Given the description of an element on the screen output the (x, y) to click on. 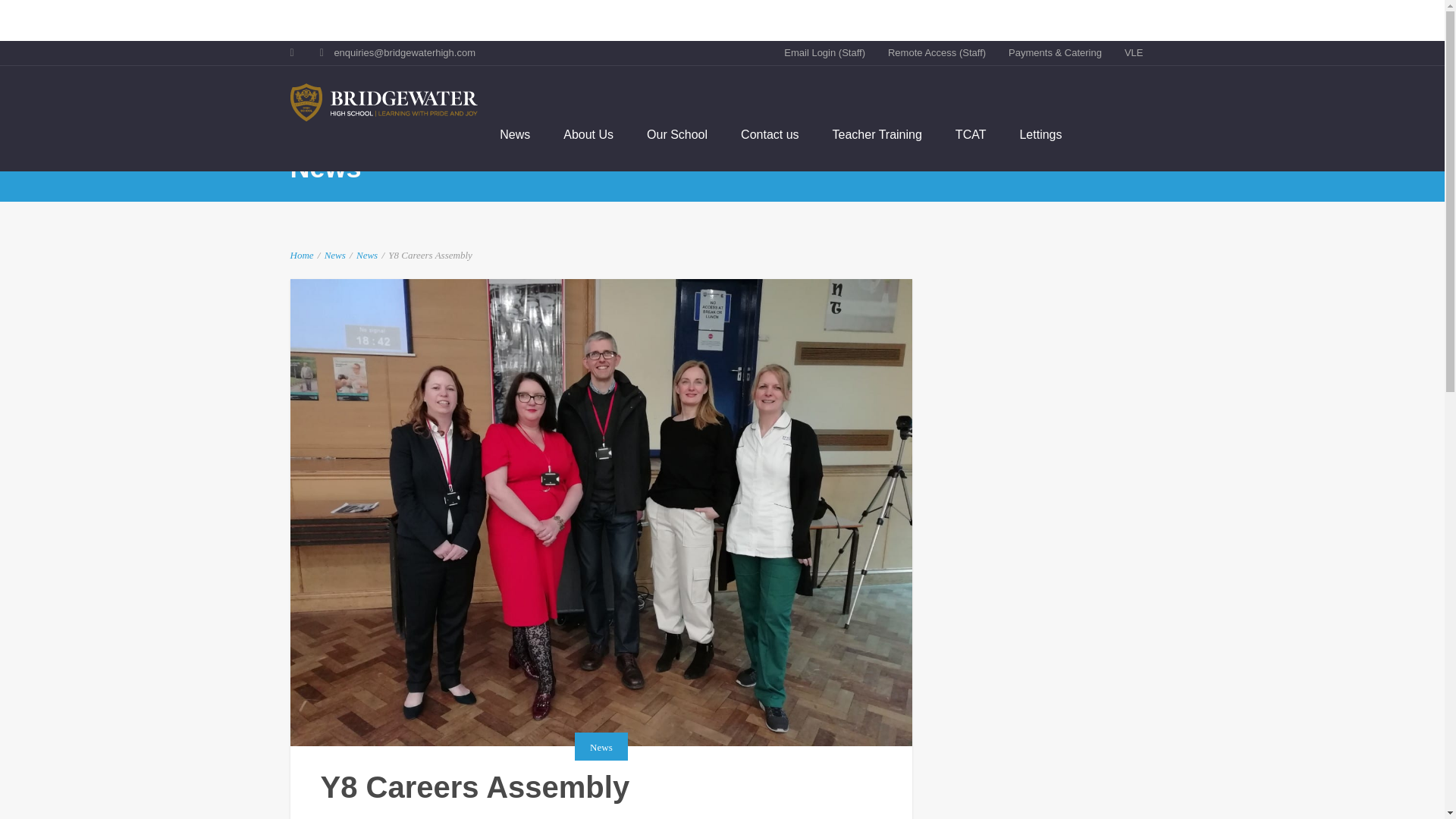
News (335, 255)
Bridgewater High School (384, 102)
